Given the description of an element on the screen output the (x, y) to click on. 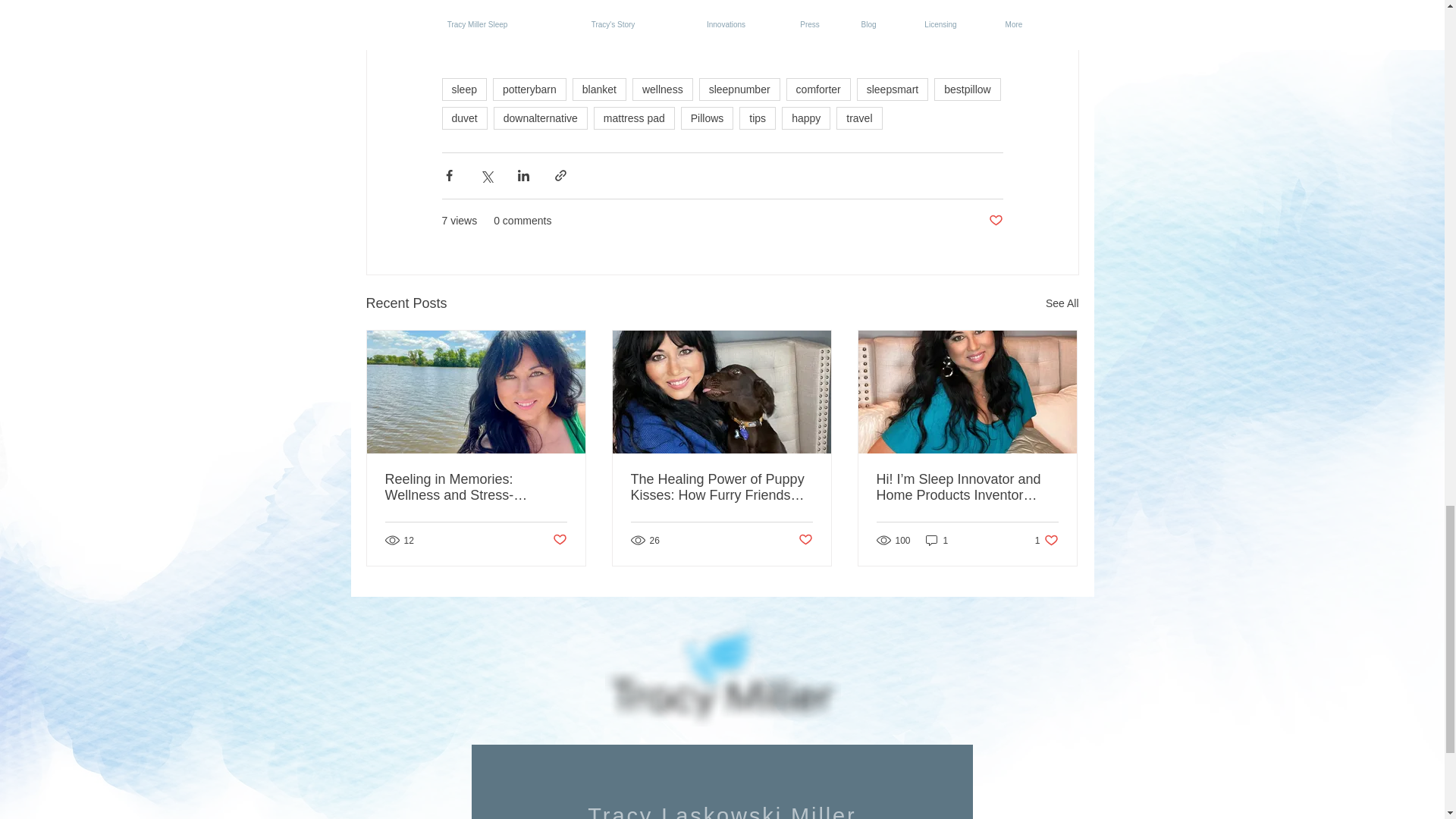
travel (858, 118)
sleep (463, 88)
bestpillow (967, 88)
potterybarn (529, 88)
sleepnumber (739, 88)
downalternative (540, 118)
Post not marked as liked (995, 220)
wellness (662, 88)
See All (1061, 303)
